Given the description of an element on the screen output the (x, y) to click on. 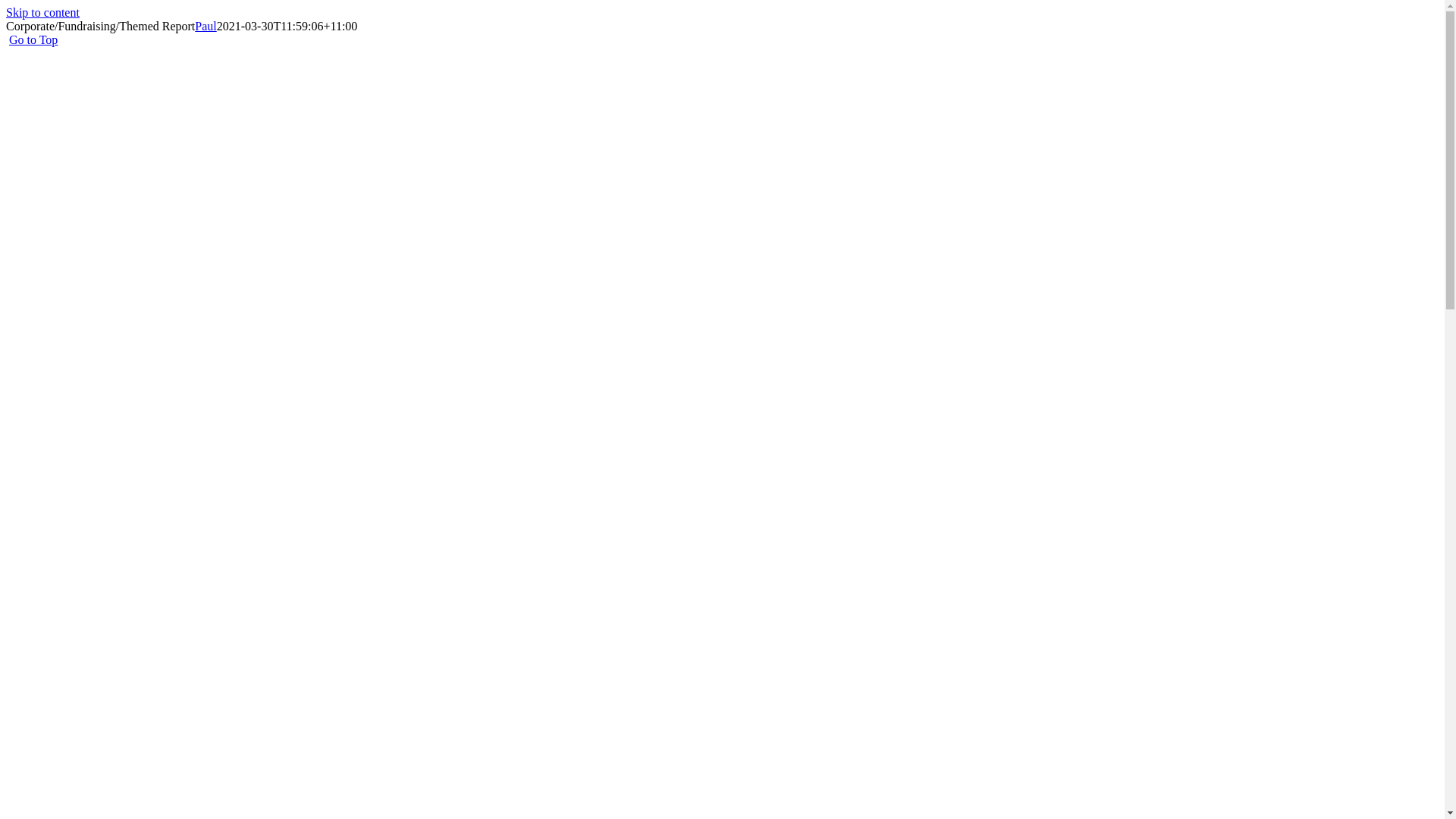
Paul Element type: text (205, 25)
Go to Top Element type: text (33, 39)
Skip to content Element type: text (42, 12)
